Given the description of an element on the screen output the (x, y) to click on. 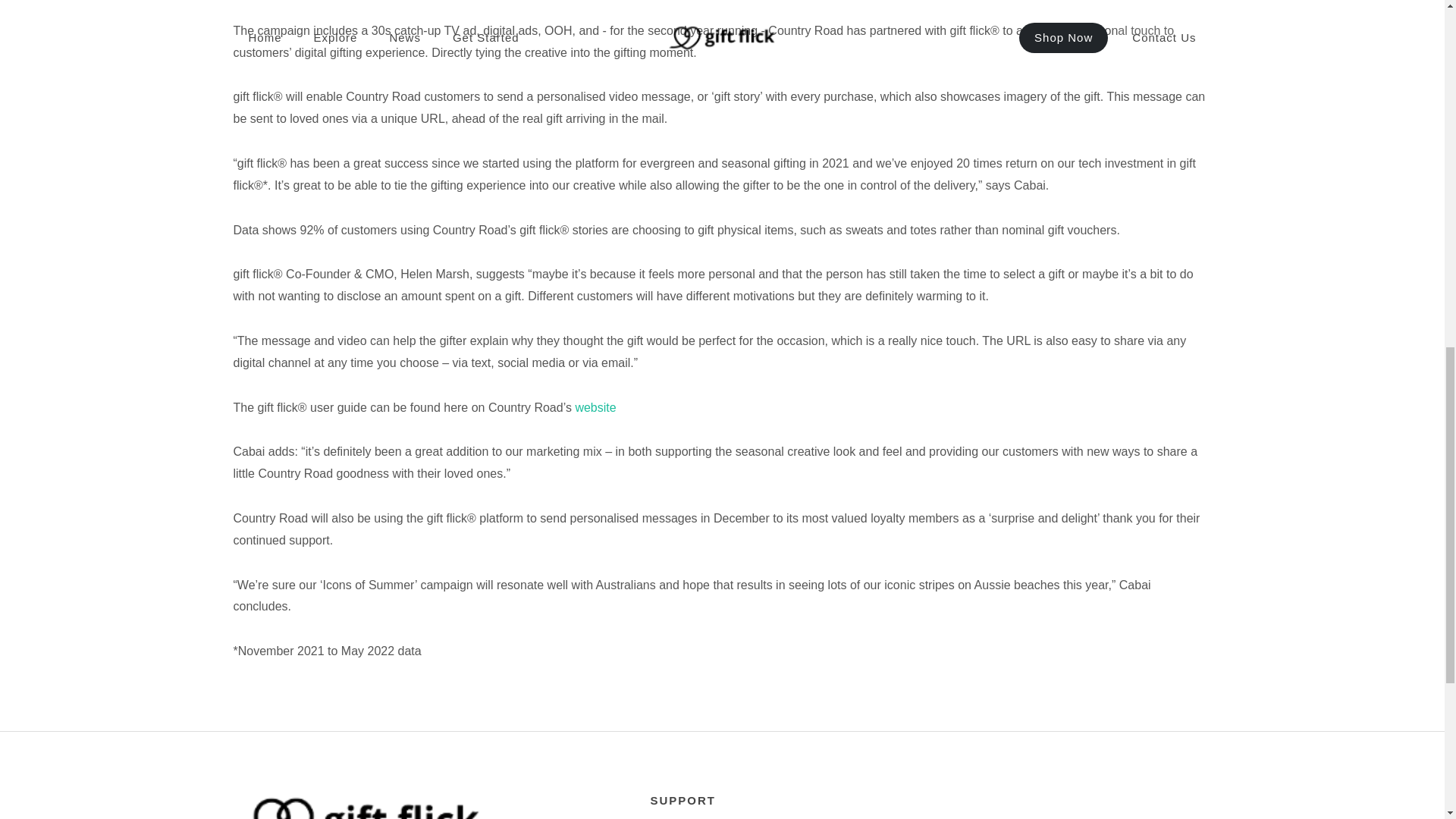
website (595, 407)
